Given the description of an element on the screen output the (x, y) to click on. 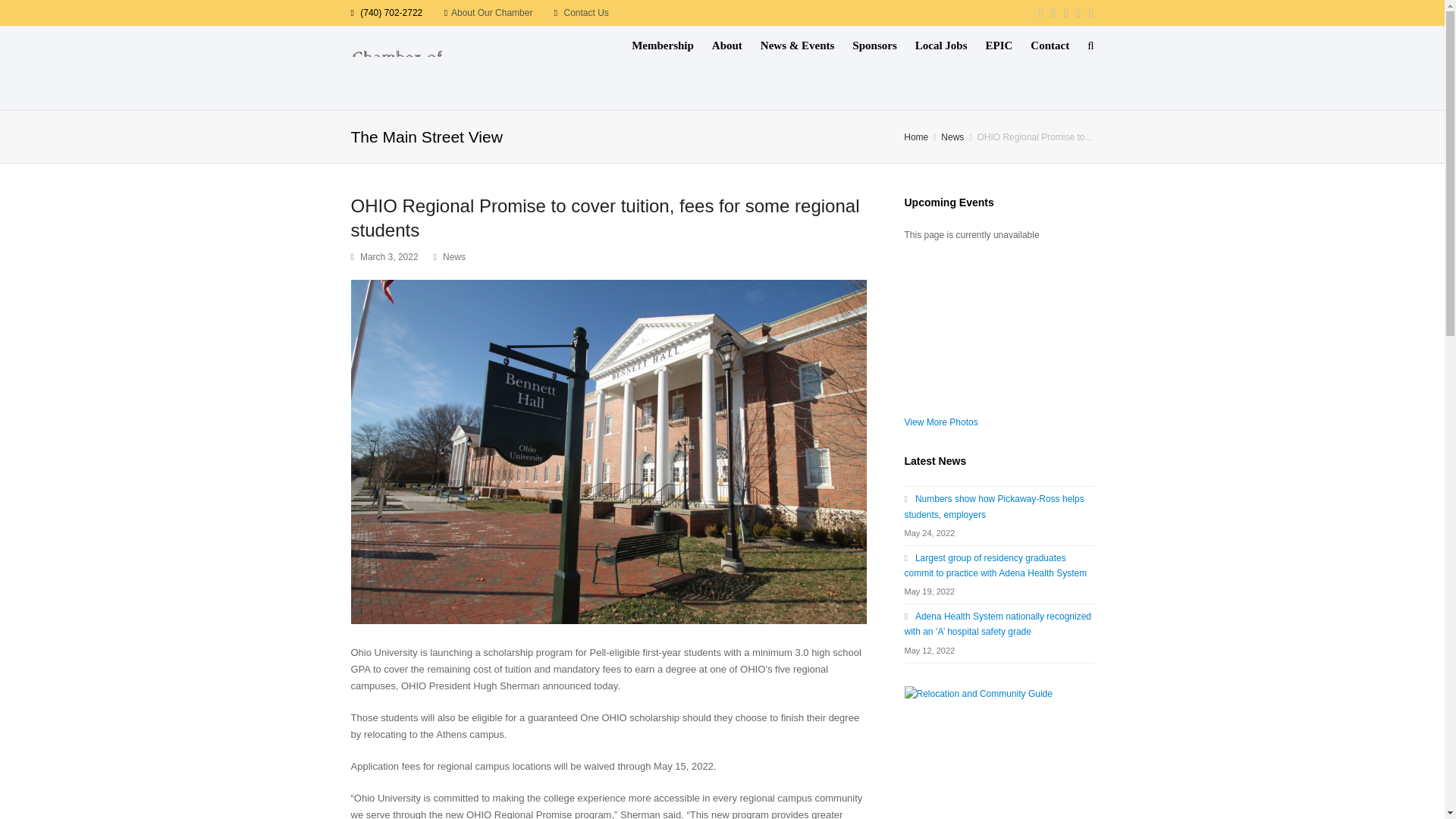
Home (917, 136)
Membership (663, 45)
Contact Us (585, 12)
EPIC (998, 45)
News (953, 136)
News (453, 256)
About (727, 45)
Local Jobs (940, 45)
Contact (1050, 45)
Chillicothe Ross Chamber of Commerce (395, 67)
